Given the description of an element on the screen output the (x, y) to click on. 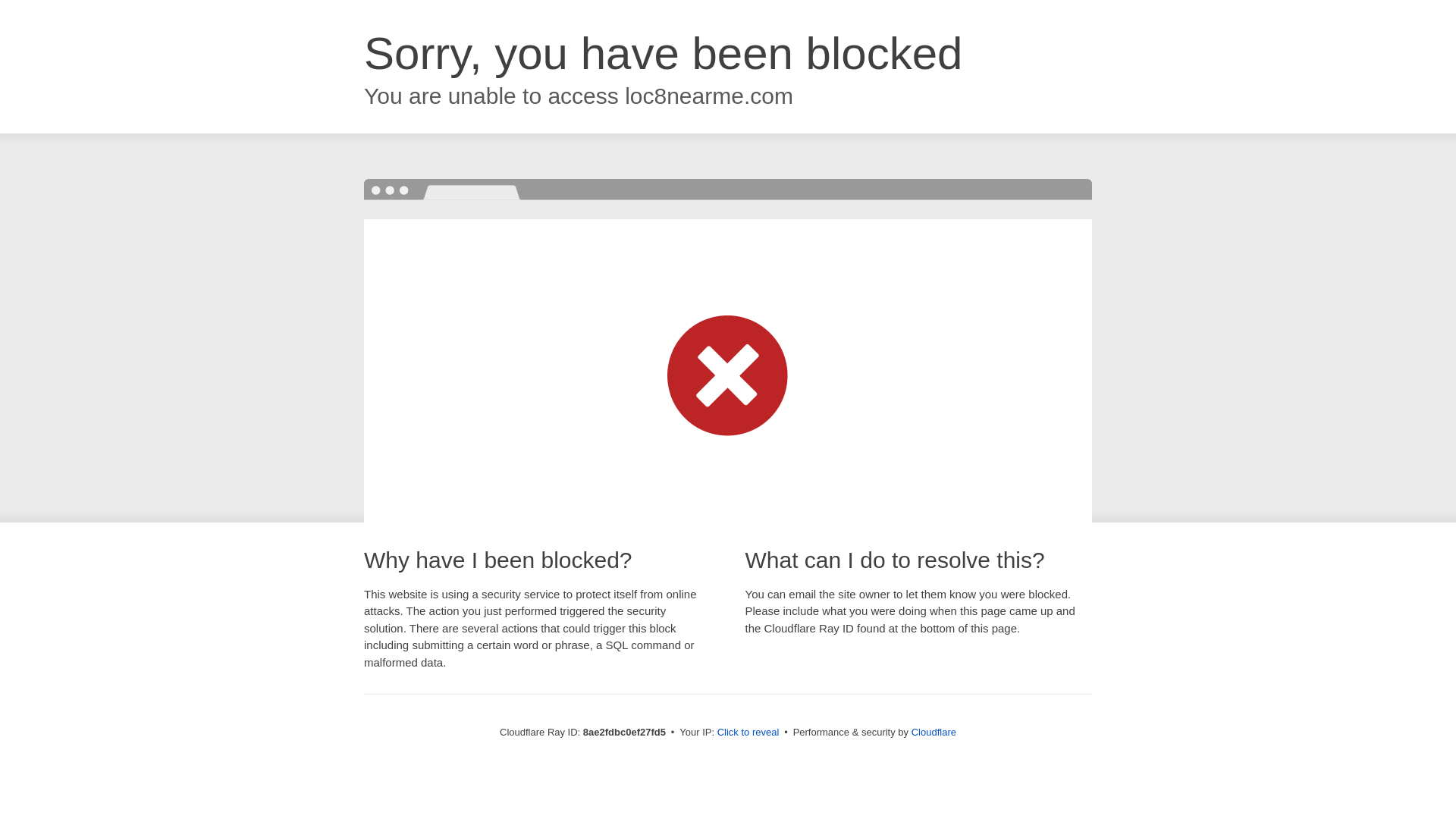
Click to reveal (747, 732)
Cloudflare (933, 731)
